Given the description of an element on the screen output the (x, y) to click on. 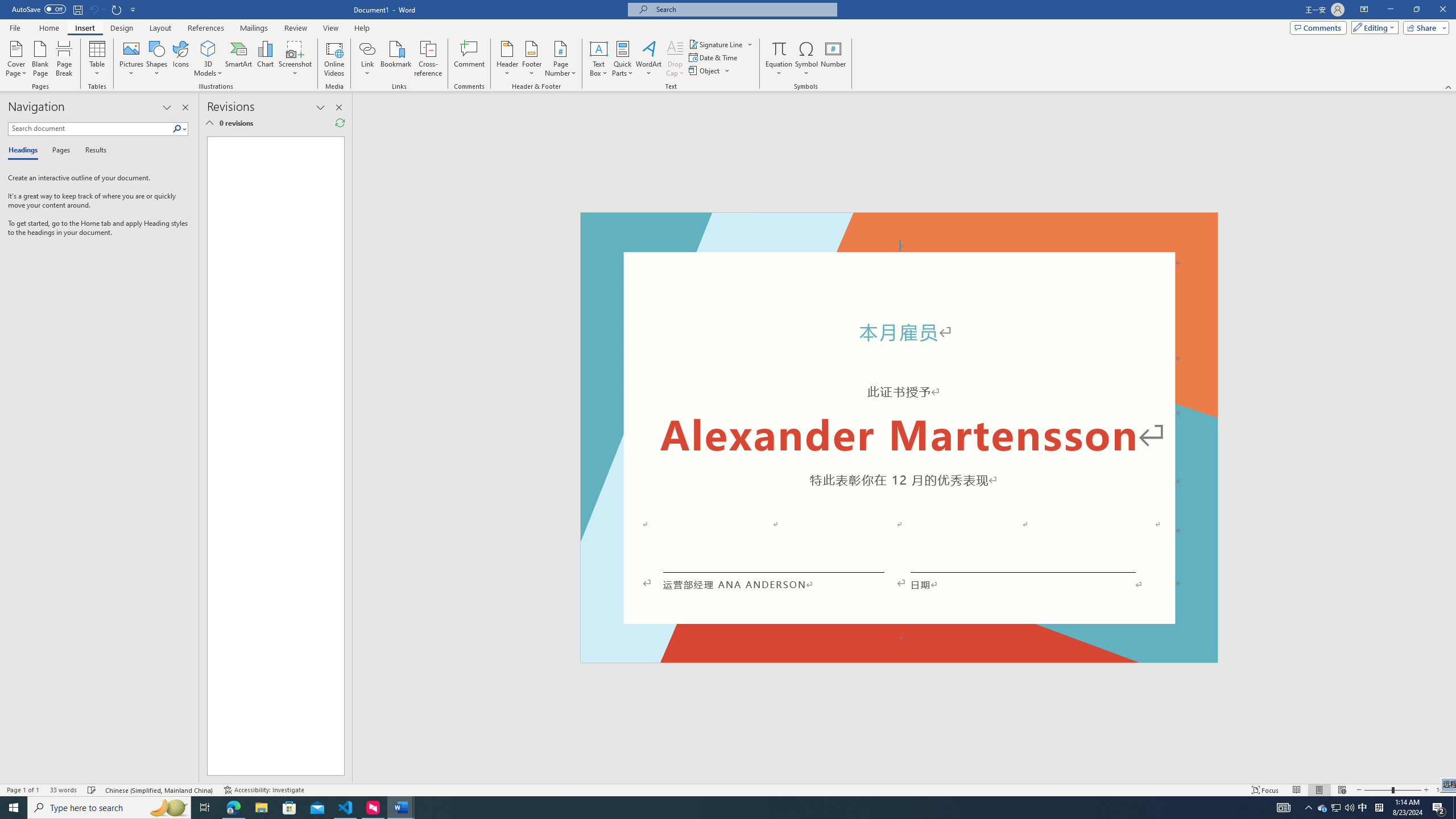
Page Break (63, 58)
Number... (833, 58)
SmartArt... (238, 58)
Zoom 100% (1443, 790)
Shapes (156, 58)
